Given the description of an element on the screen output the (x, y) to click on. 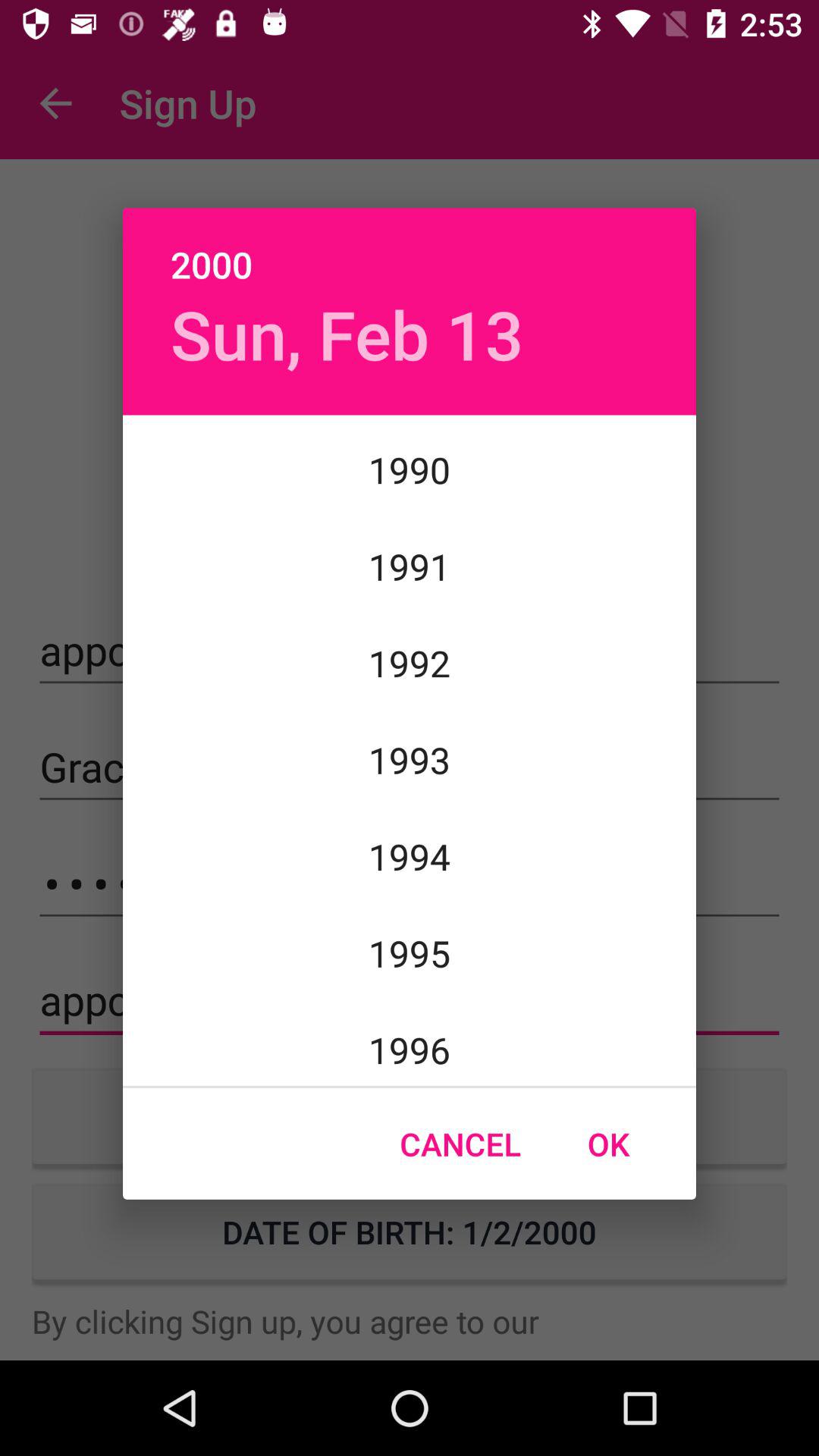
scroll until the 2000 icon (409, 248)
